Given the description of an element on the screen output the (x, y) to click on. 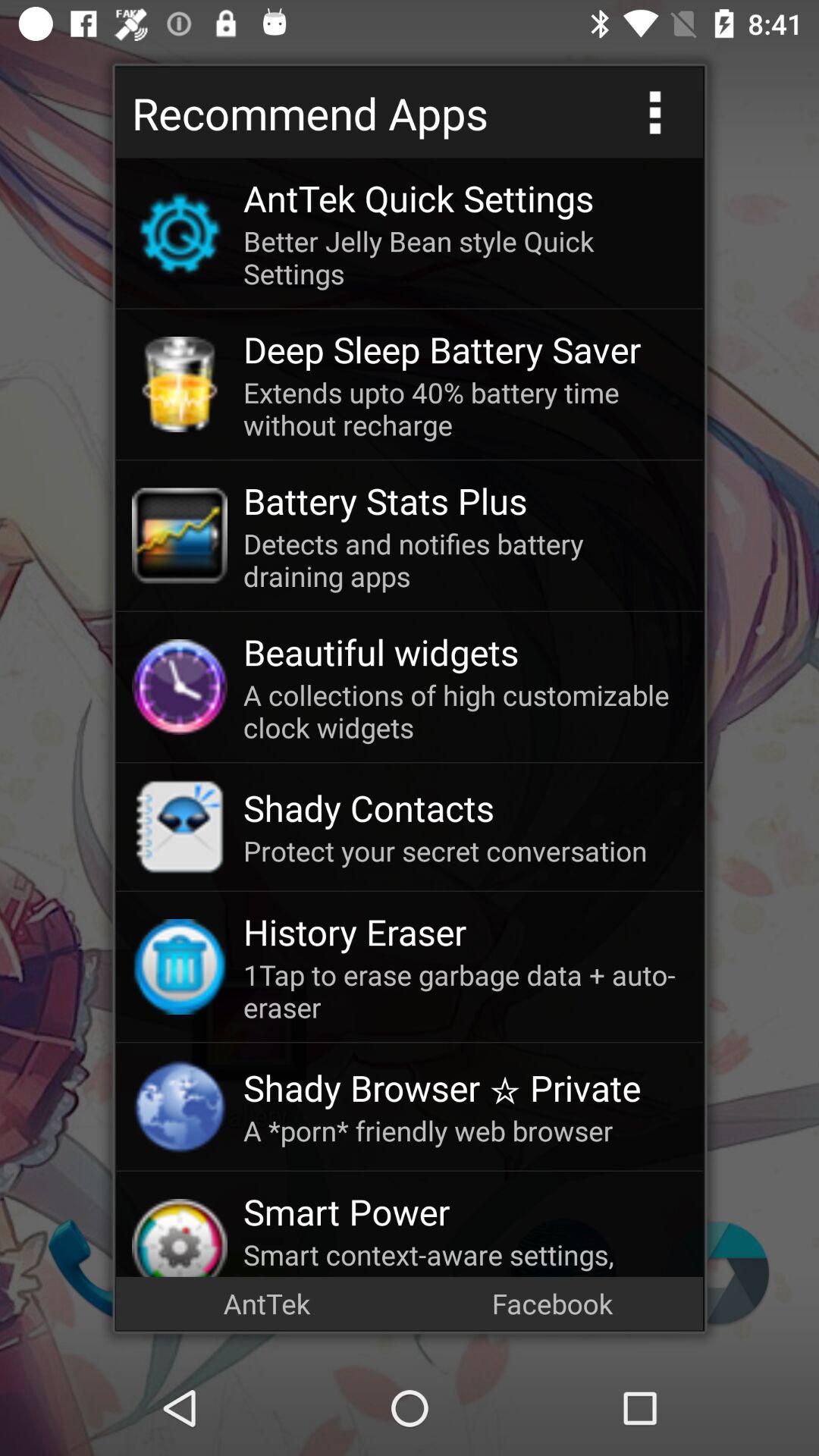
select app below the beautiful widgets item (465, 711)
